Given the description of an element on the screen output the (x, y) to click on. 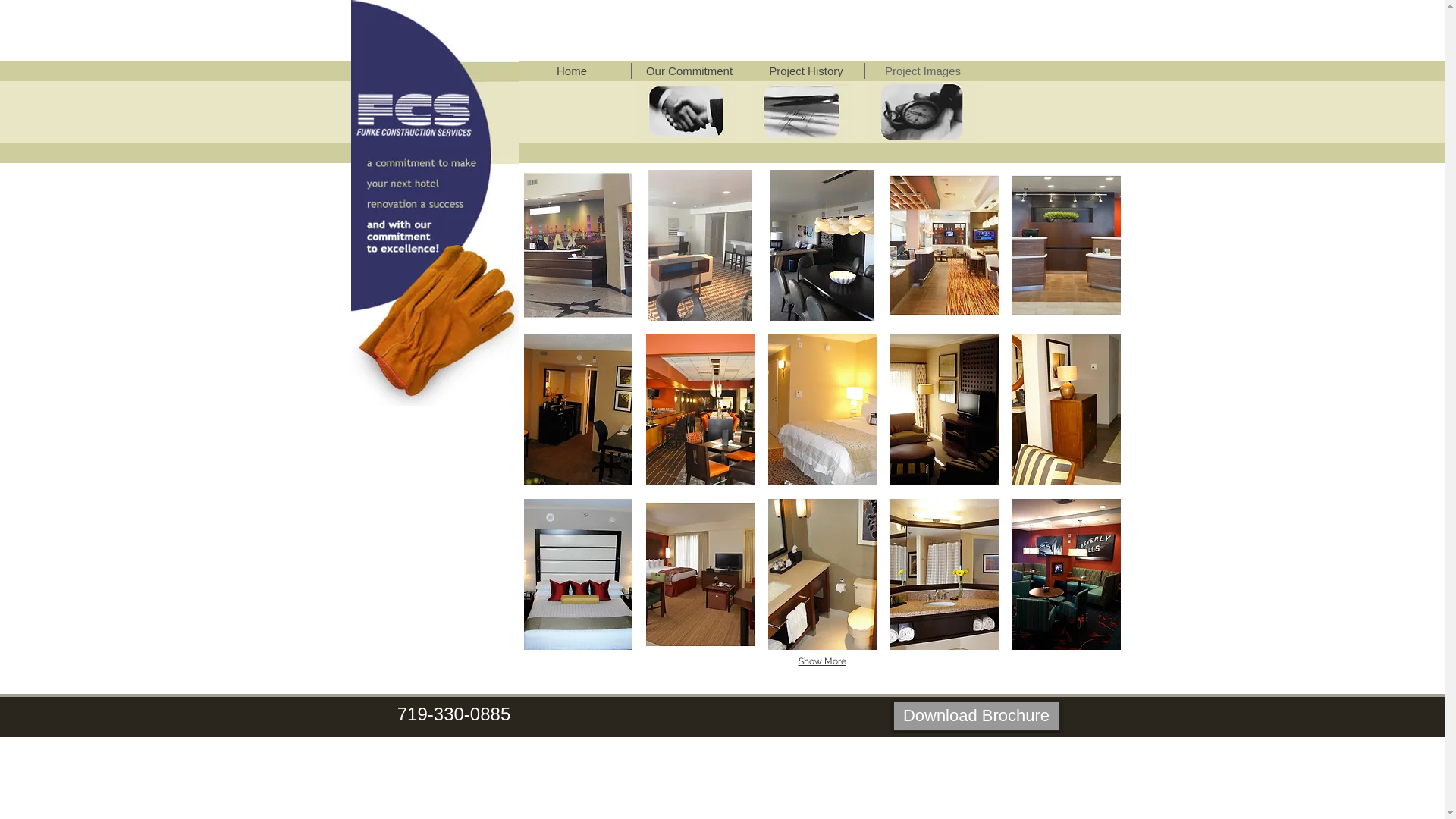
Project History Element type: text (805, 70)
homepagepics1.jpg Element type: hover (686, 111)
Our Commitment Element type: text (688, 70)
homepagepics3.jpg Element type: hover (921, 111)
Show More Element type: text (821, 661)
Project Images Element type: text (922, 70)
Download Brochure Element type: text (975, 715)
homepagepics2.jpg Element type: hover (800, 111)
Home Element type: text (571, 70)
homepagelogoglo.jpg Element type: hover (434, 202)
